Given the description of an element on the screen output the (x, y) to click on. 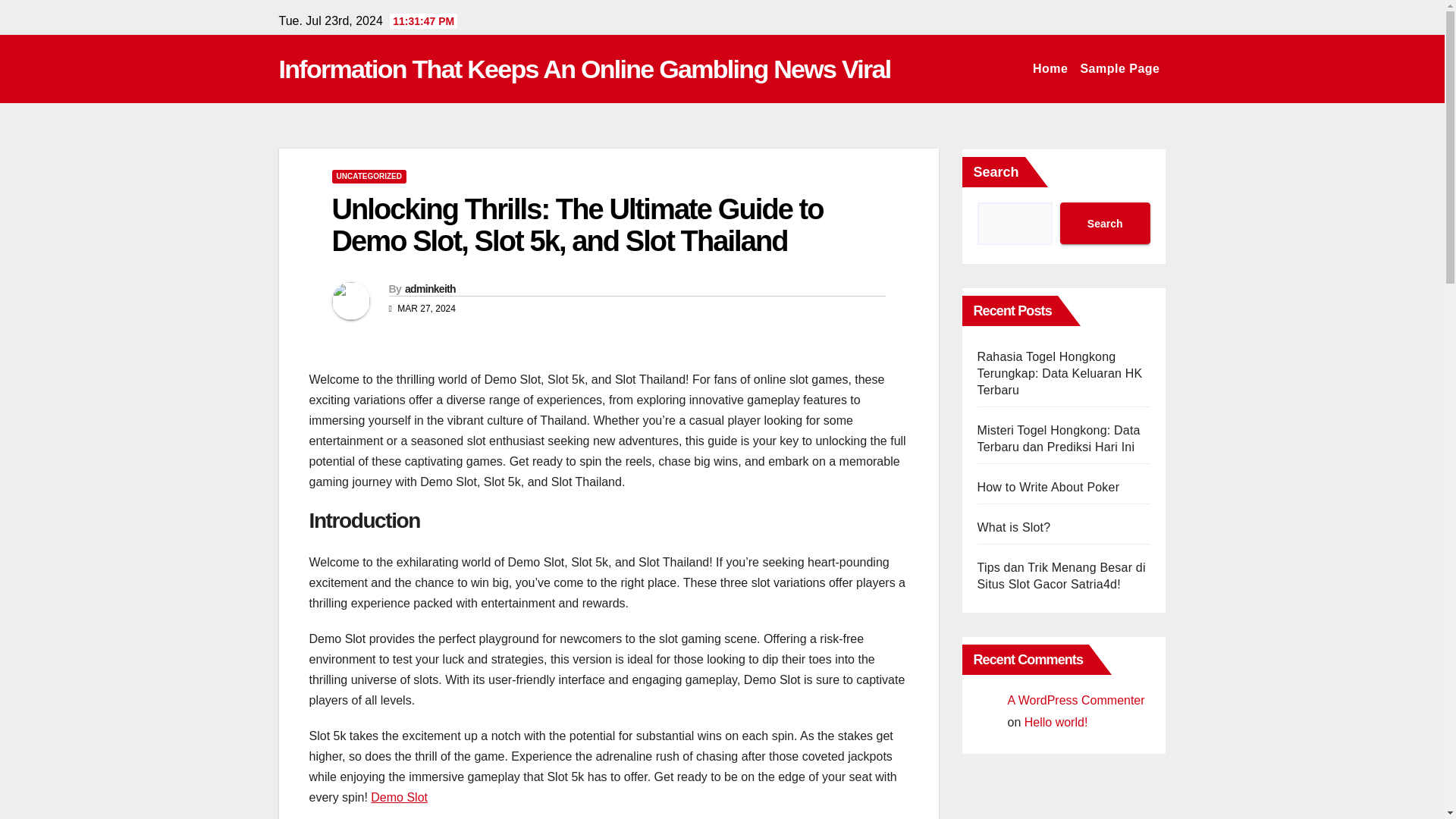
Tips dan Trik Menang Besar di Situs Slot Gacor Satria4d! (1060, 575)
Information That Keeps An Online Gambling News Viral (585, 68)
What is Slot? (1012, 526)
Search (1104, 223)
How to Write About Poker (1047, 486)
A WordPress Commenter (1075, 699)
Hello world! (1056, 721)
Demo Slot (399, 797)
Misteri Togel Hongkong: Data Terbaru dan Prediksi Hari Ini (1058, 438)
Sample Page (1120, 69)
UNCATEGORIZED (368, 176)
adminkeith (429, 288)
Rahasia Togel Hongkong Terungkap: Data Keluaran HK Terbaru (1058, 373)
